Given the description of an element on the screen output the (x, y) to click on. 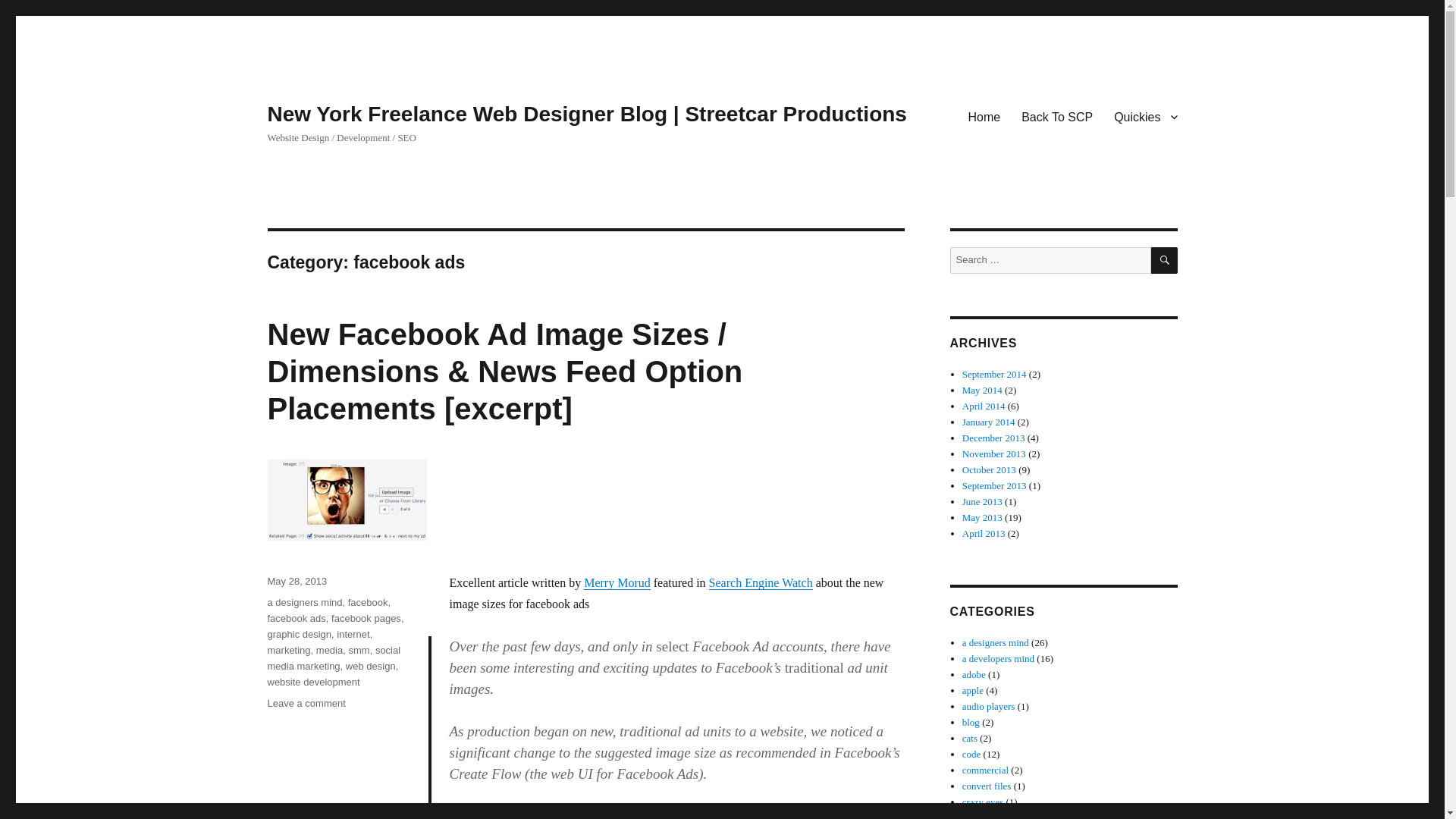
Home (983, 116)
SEARCH (1164, 260)
marketing (288, 650)
website development (312, 681)
a designers mind (304, 602)
January 2014 (988, 421)
October 2013 (989, 469)
Quickies (1145, 116)
graphic design (298, 633)
facebook (367, 602)
